Given the description of an element on the screen output the (x, y) to click on. 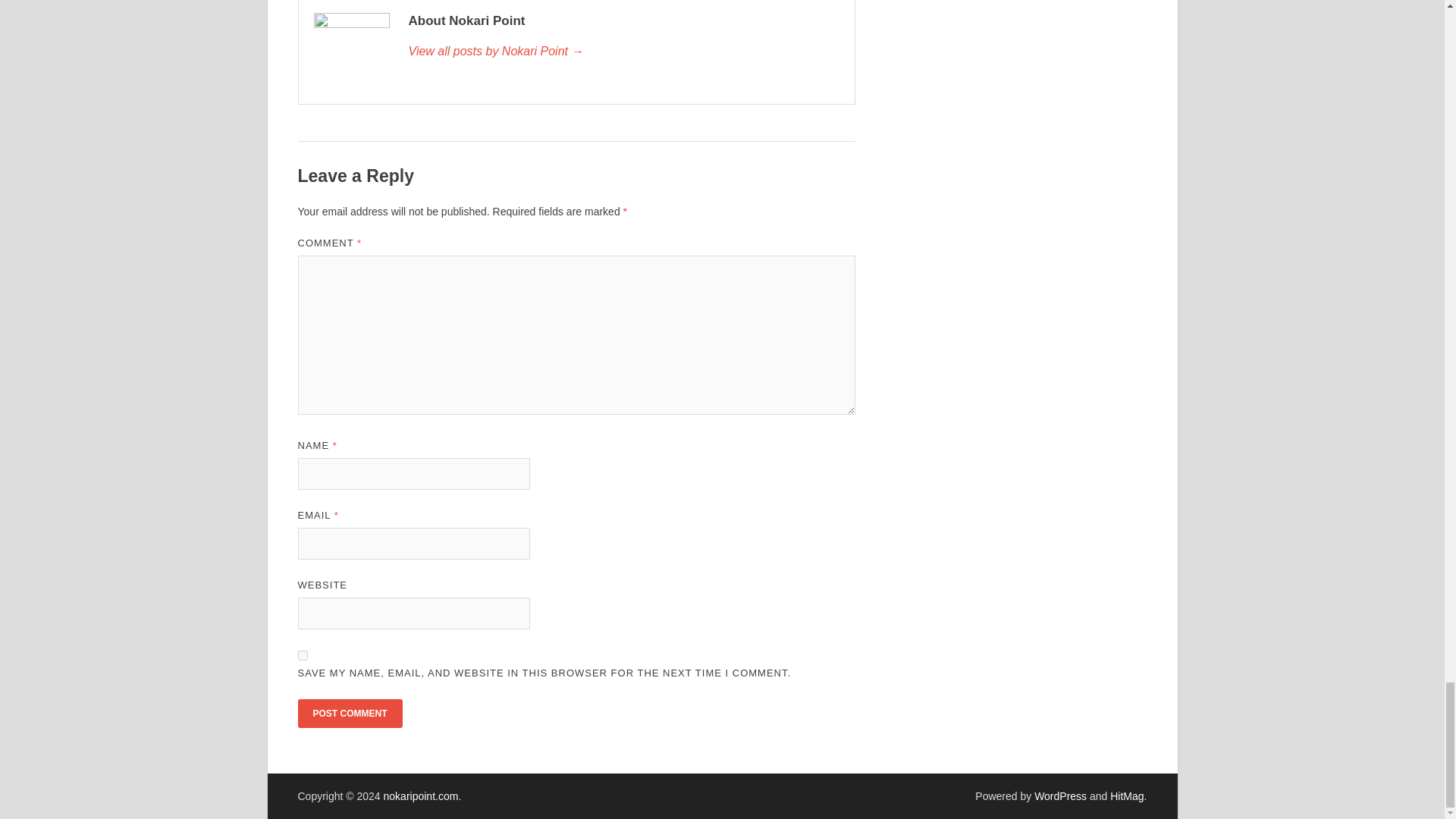
HitMag WordPress Theme (1125, 796)
WordPress (1059, 796)
Nokari Point (622, 51)
Post Comment (349, 713)
yes (302, 655)
nokaripoint.com (421, 796)
